Given the description of an element on the screen output the (x, y) to click on. 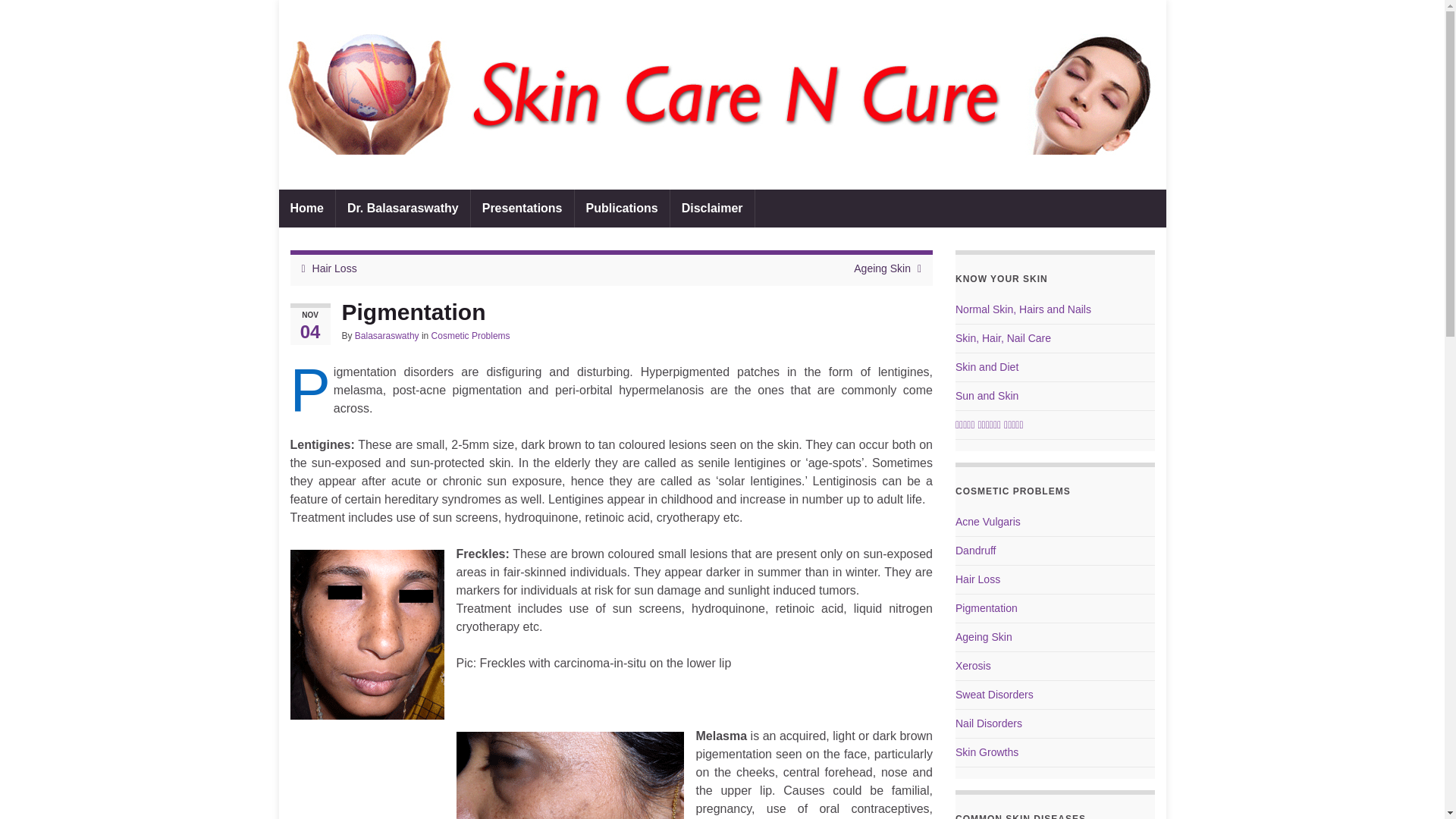
Ageing Skin (882, 268)
Hair Loss (334, 268)
Pigmentation (986, 607)
Normal Skin, Hairs and Nails (1022, 309)
Ageing Skin (983, 636)
Xerosis (973, 665)
Dandruff (975, 550)
Nail Disorders (988, 723)
Sweat Disorders (994, 694)
Acne Vulgaris (987, 521)
Publications (622, 208)
Skin and Diet (986, 367)
Hair Loss (977, 579)
Skin Growths (986, 752)
Dr. Balasaraswathy (403, 208)
